Given the description of an element on the screen output the (x, y) to click on. 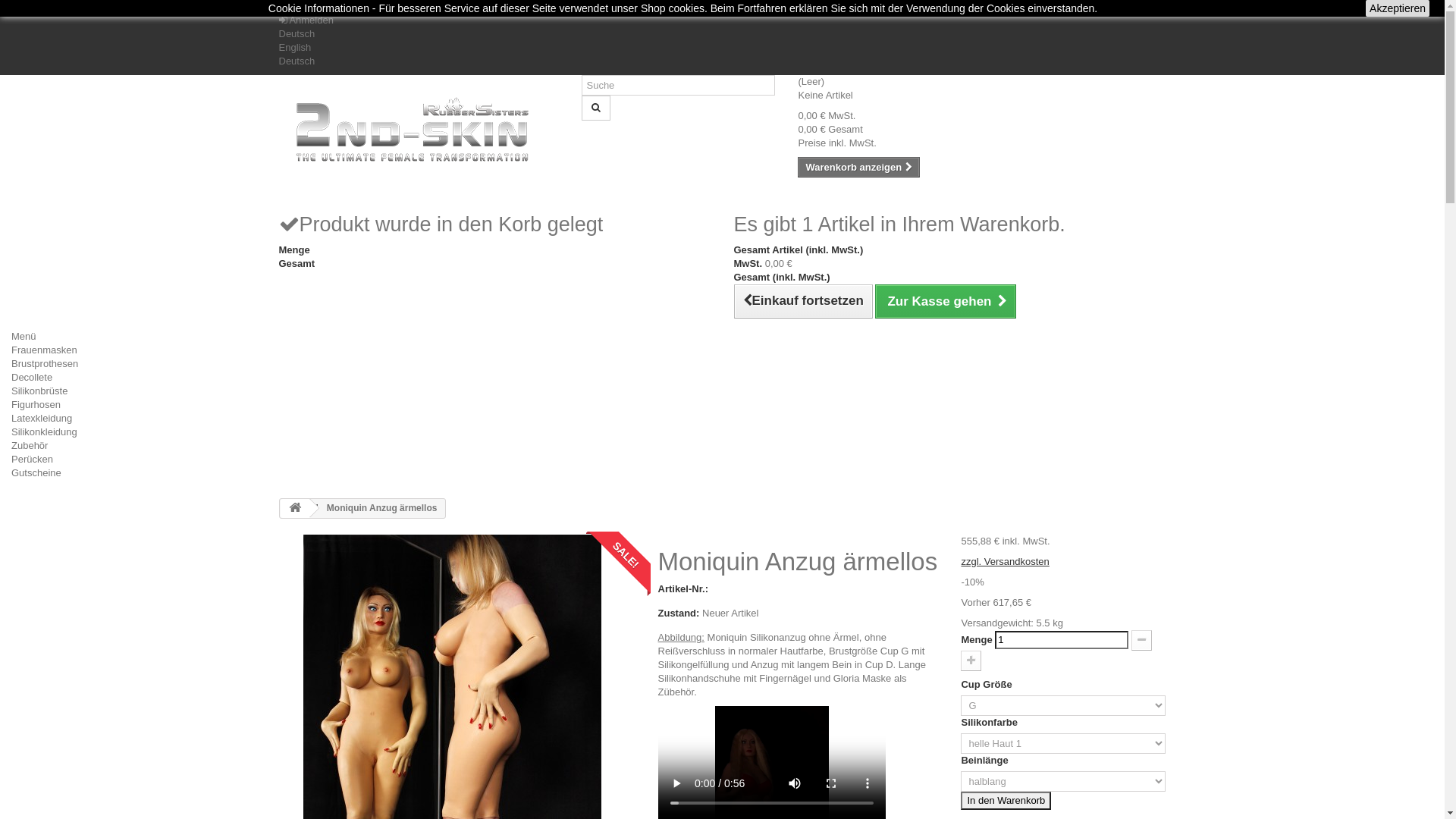
Latexkleidung Element type: text (41, 417)
Anmelden Element type: text (306, 19)
Brustprothesen Element type: text (44, 363)
(Leer) Element type: text (810, 81)
Akzeptieren Element type: text (1397, 8)
Decollete Element type: text (31, 376)
Gutscheine Element type: text (36, 472)
zzgl. Versandkosten Element type: text (1004, 561)
Warenkorb anzeigen Element type: text (858, 166)
Figurhosen Element type: text (35, 404)
Zur Kasse gehen Element type: text (945, 301)
English Element type: text (295, 47)
In den Warenkorb Element type: text (1005, 800)
Silikonkleidung Element type: text (44, 431)
2nd-skin Shop Element type: hover (419, 129)
Frauenmasken Element type: text (44, 349)
